Given the description of an element on the screen output the (x, y) to click on. 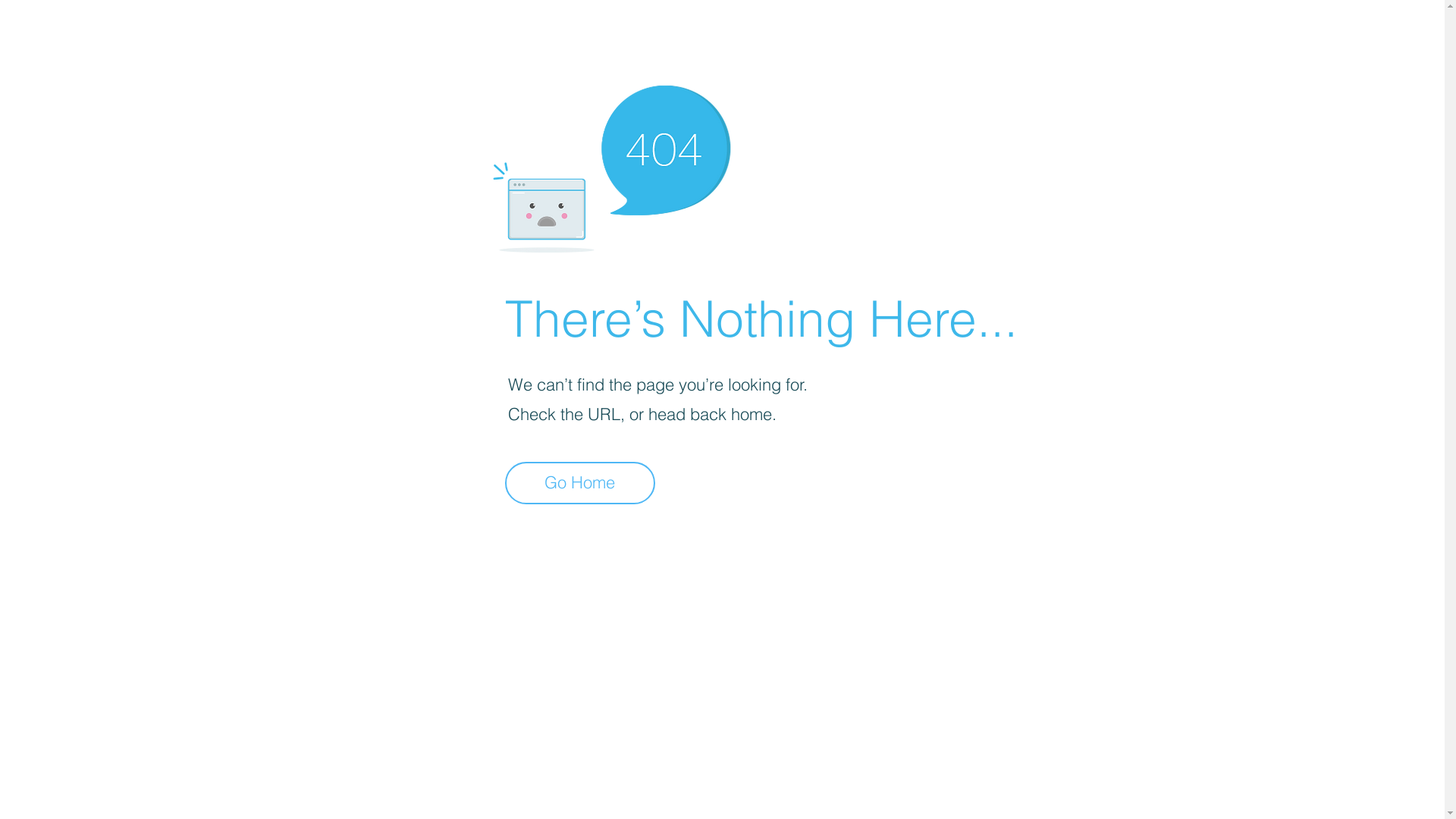
404-icon_2.png Element type: hover (610, 164)
Go Home Element type: text (580, 482)
